Given the description of an element on the screen output the (x, y) to click on. 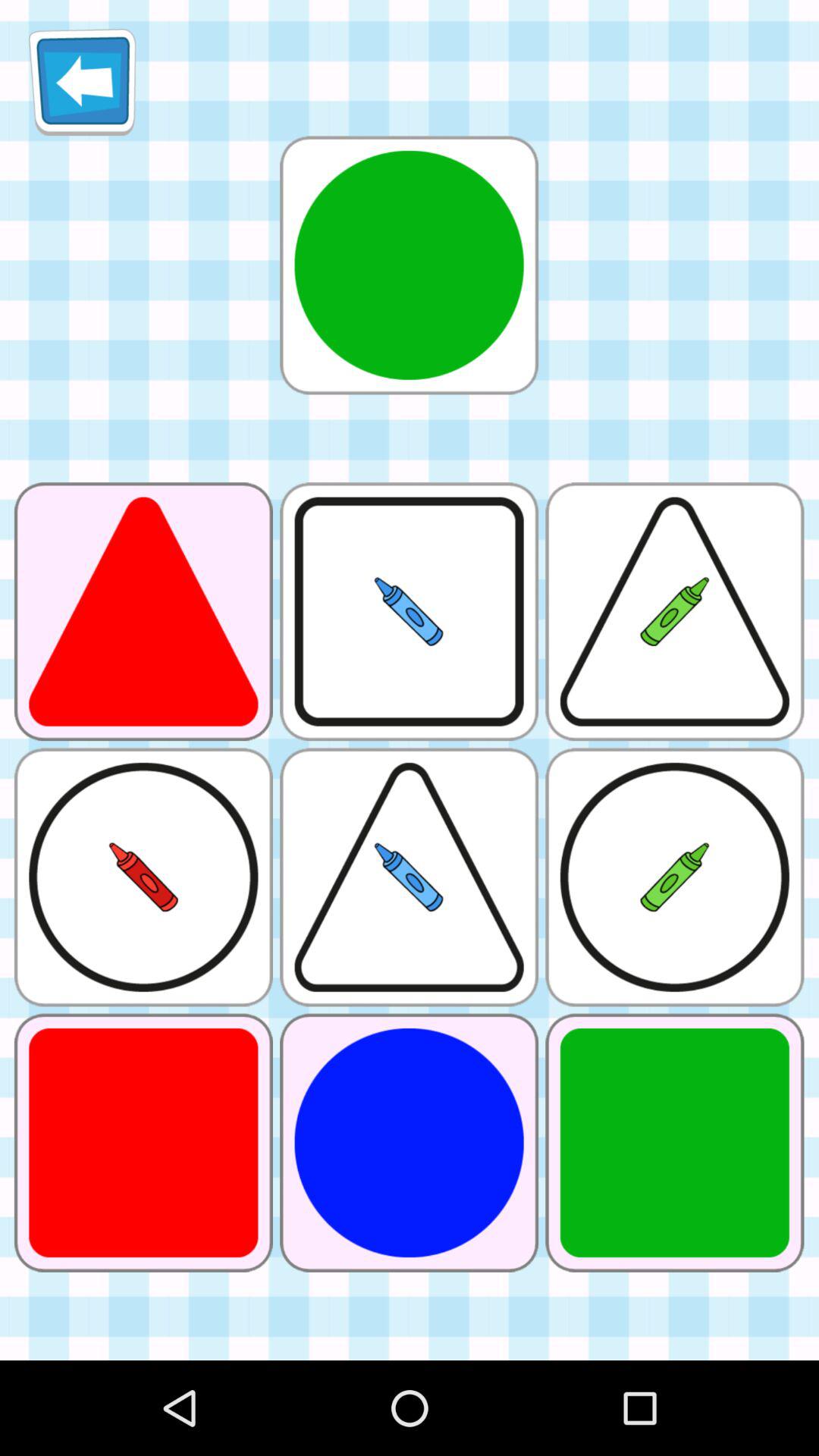
click to return to the previous page (82, 82)
